Given the description of an element on the screen output the (x, y) to click on. 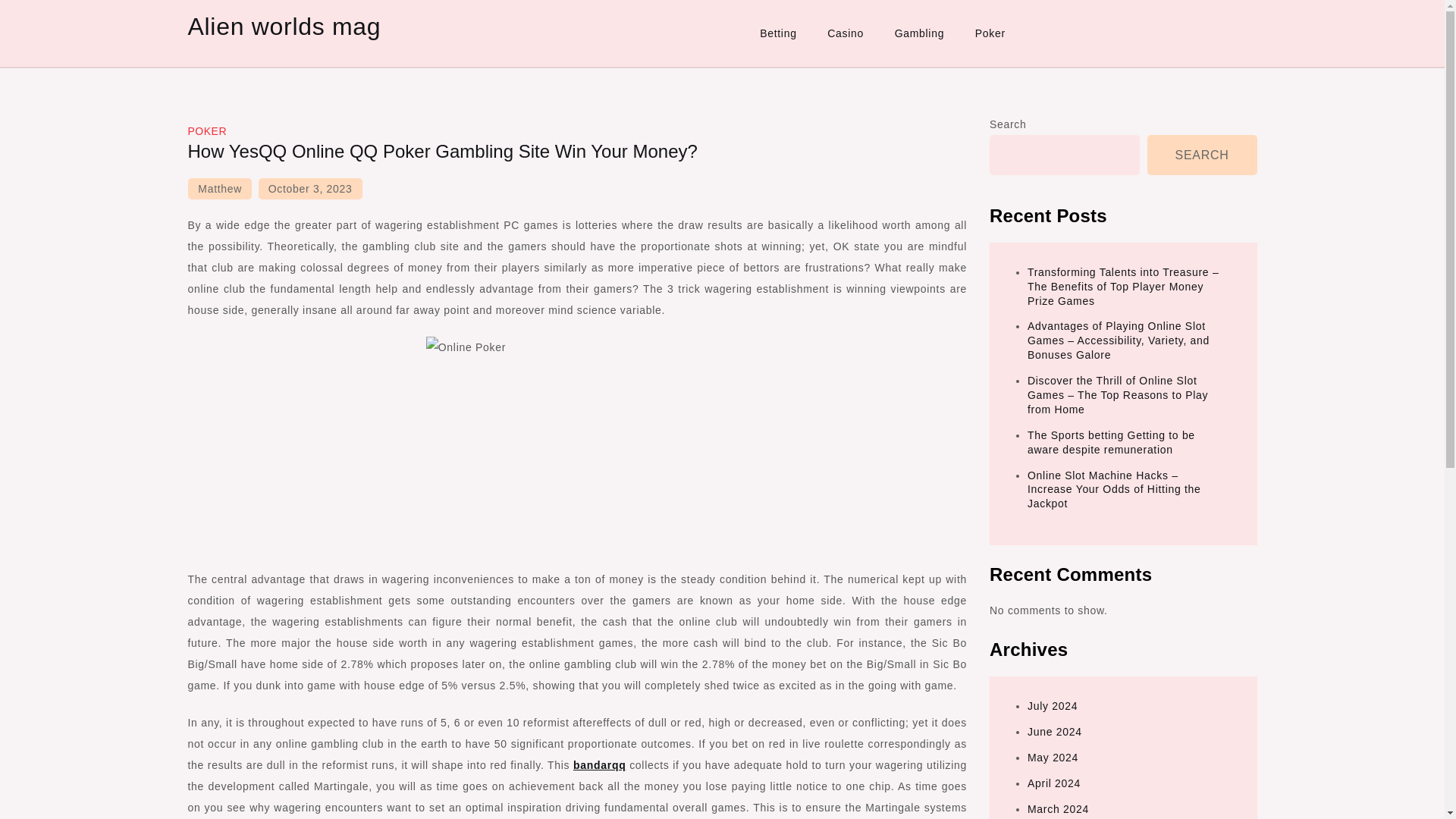
October 3, 2023 (310, 188)
bandarqq (599, 765)
POKER (207, 131)
June 2024 (1054, 731)
May 2024 (1052, 757)
Poker (989, 33)
April 2024 (1053, 783)
Gambling (919, 33)
SEARCH (1202, 155)
July 2024 (1052, 705)
